Given the description of an element on the screen output the (x, y) to click on. 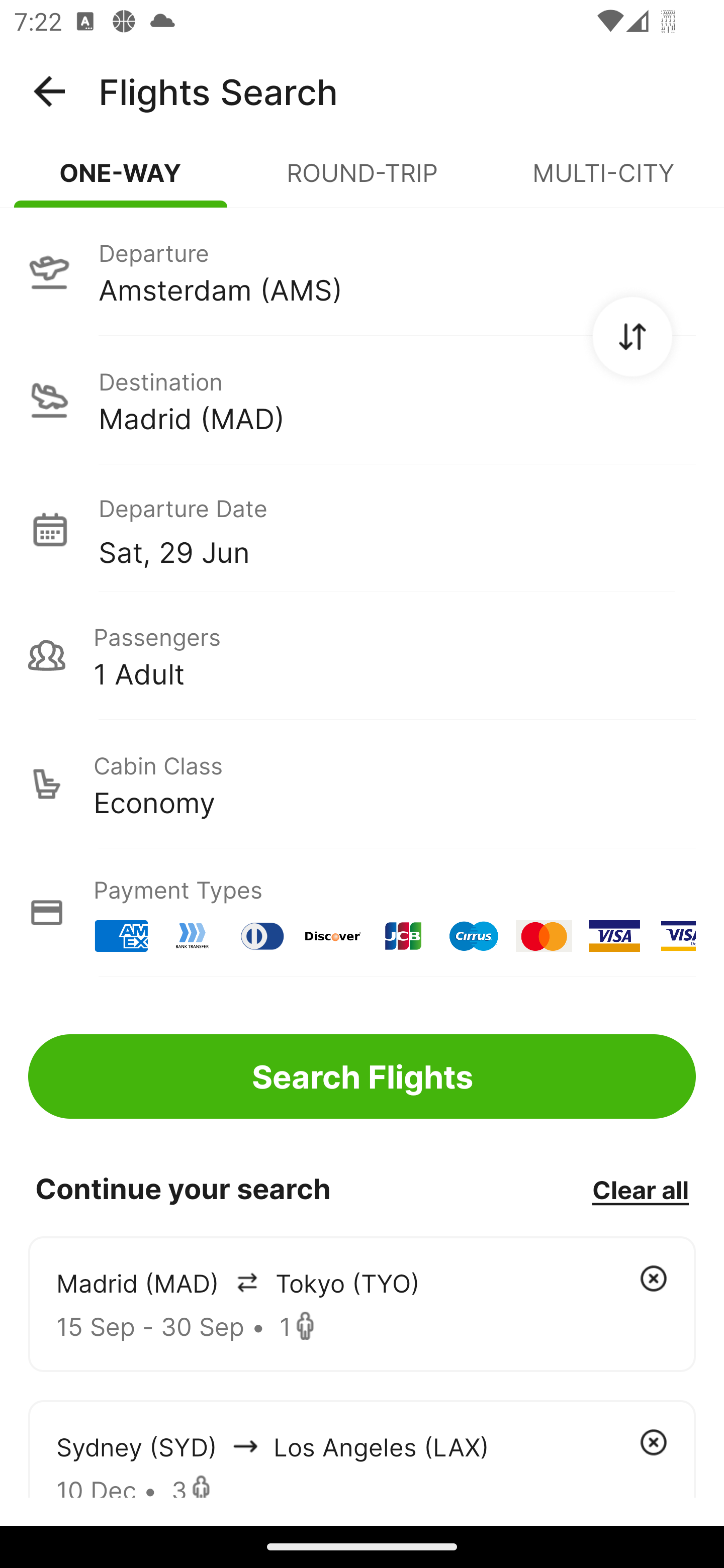
ONE-WAY (120, 180)
ROUND-TRIP (361, 180)
MULTI-CITY (603, 180)
Departure Amsterdam (AMS) (362, 270)
Destination Madrid (MAD) (362, 400)
Departure Date Sat, 29 Jun (396, 528)
Passengers 1 Adult (362, 655)
Cabin Class Economy (362, 783)
Payment Types (362, 912)
Search Flights (361, 1075)
Clear all (640, 1189)
